Given the description of an element on the screen output the (x, y) to click on. 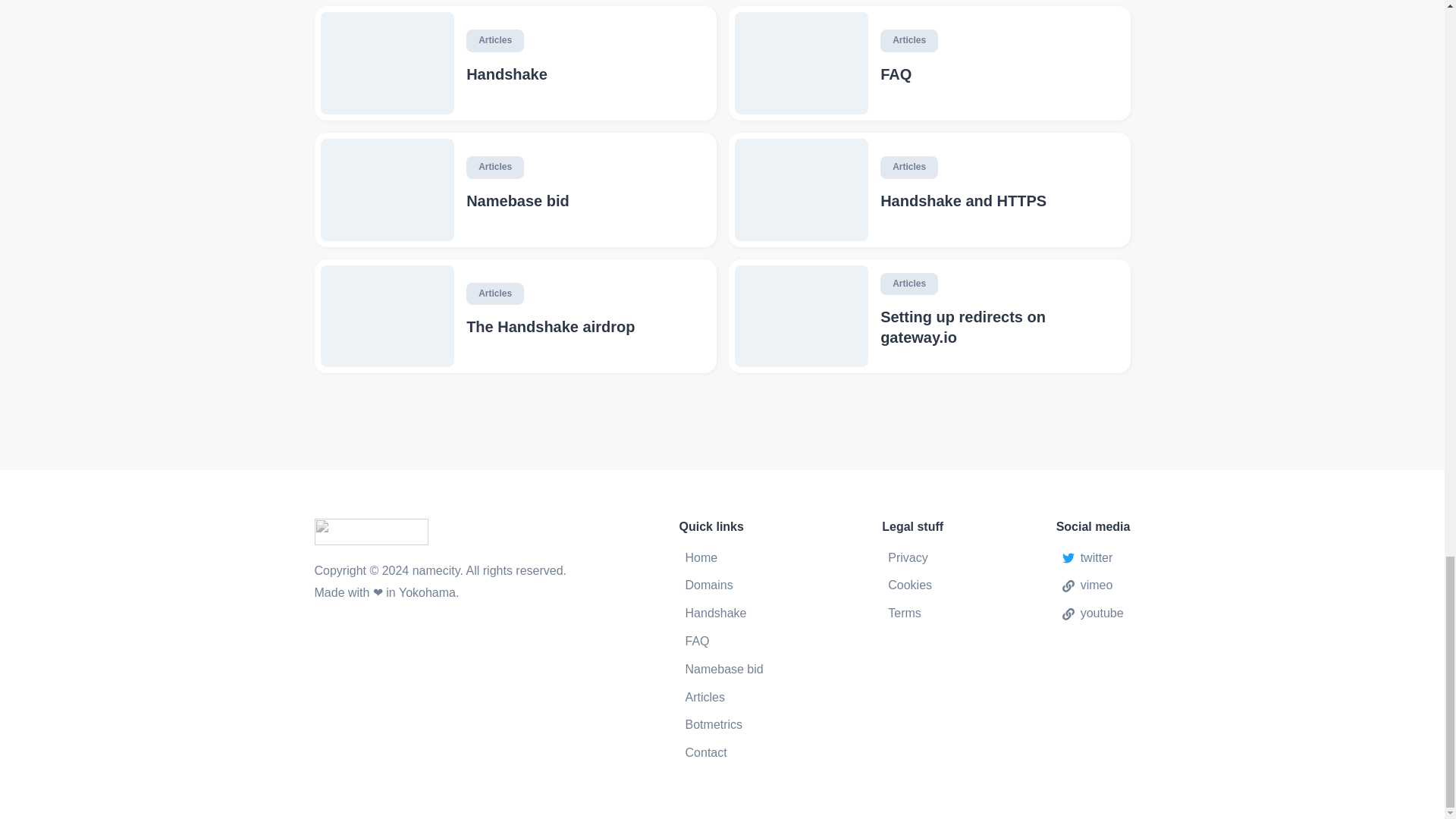
Articles (494, 293)
Articles (494, 167)
The Handshake airdrop (584, 326)
Botmetrics (723, 725)
Namebase bid (723, 669)
Home (723, 558)
Handshake (584, 74)
Setting up redirects on gateway.io (999, 327)
Articles (908, 283)
Domains (723, 585)
